Given the description of an element on the screen output the (x, y) to click on. 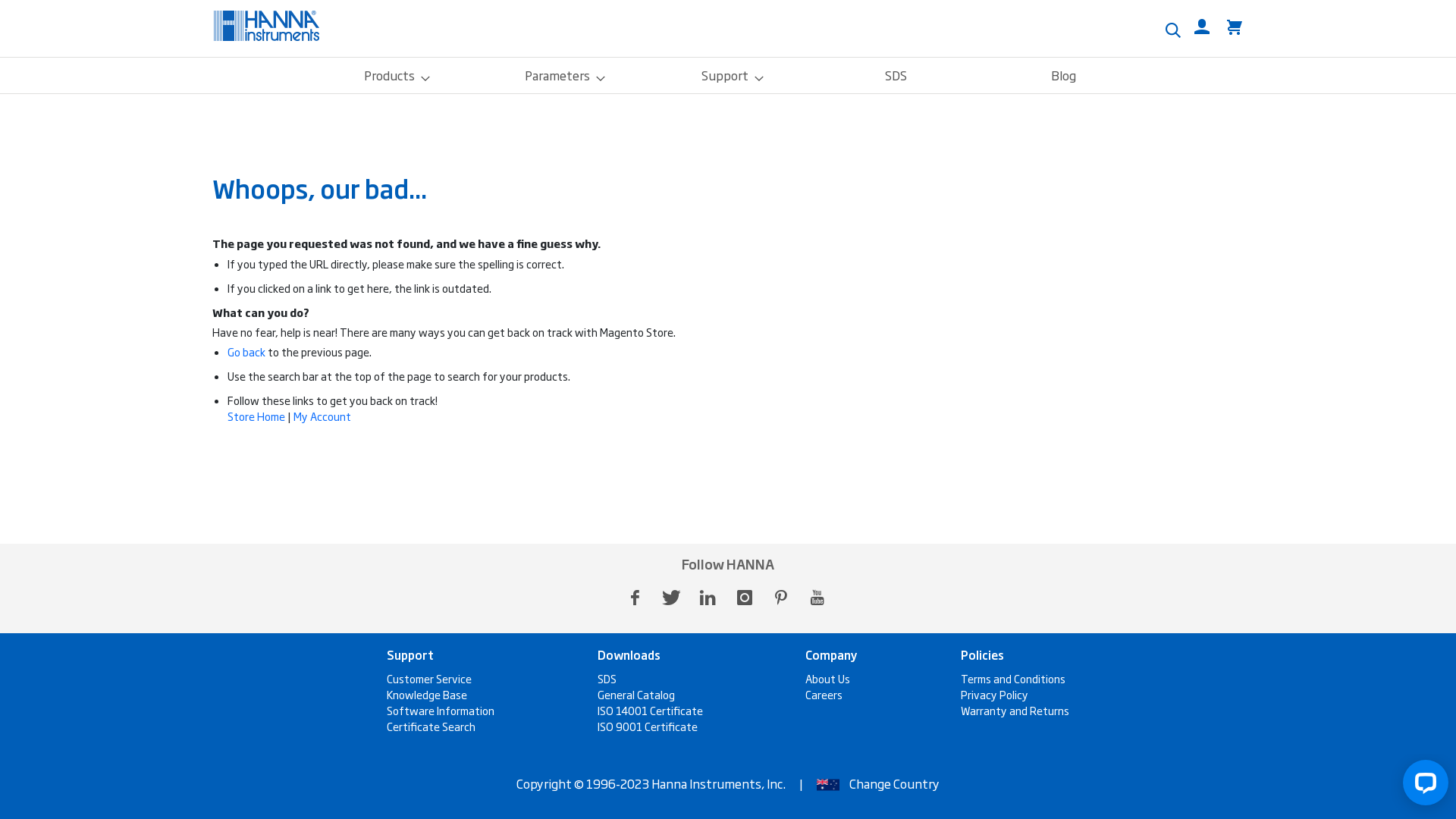
Customer Service Element type: text (428, 678)
Terms and Conditions Element type: text (1012, 678)
Certificate Search Element type: text (430, 726)
About Us Element type: text (827, 678)
Parameters Element type: text (560, 75)
Software Information Element type: text (440, 710)
SDS Element type: text (606, 678)
LiveChat chat widget Element type: hover (1422, 785)
Store Home Element type: text (256, 415)
ISO 14001 Certificate Element type: text (649, 710)
Privacy Policy Element type: text (994, 694)
Blog Element type: text (1063, 75)
Products Element type: text (391, 75)
My Cart Element type: text (1234, 26)
General Catalog Element type: text (635, 694)
Warranty and Returns Element type: text (1014, 710)
Careers Element type: text (823, 694)
Support Element type: text (727, 75)
Go back Element type: text (246, 351)
Knowledge Base Element type: text (426, 694)
SDS Element type: text (895, 75)
Hanna Instruments Element type: hover (266, 25)
Change Country Element type: text (894, 783)
My Account Element type: text (322, 415)
ISO 9001 Certificate Element type: text (647, 726)
